Given the description of an element on the screen output the (x, y) to click on. 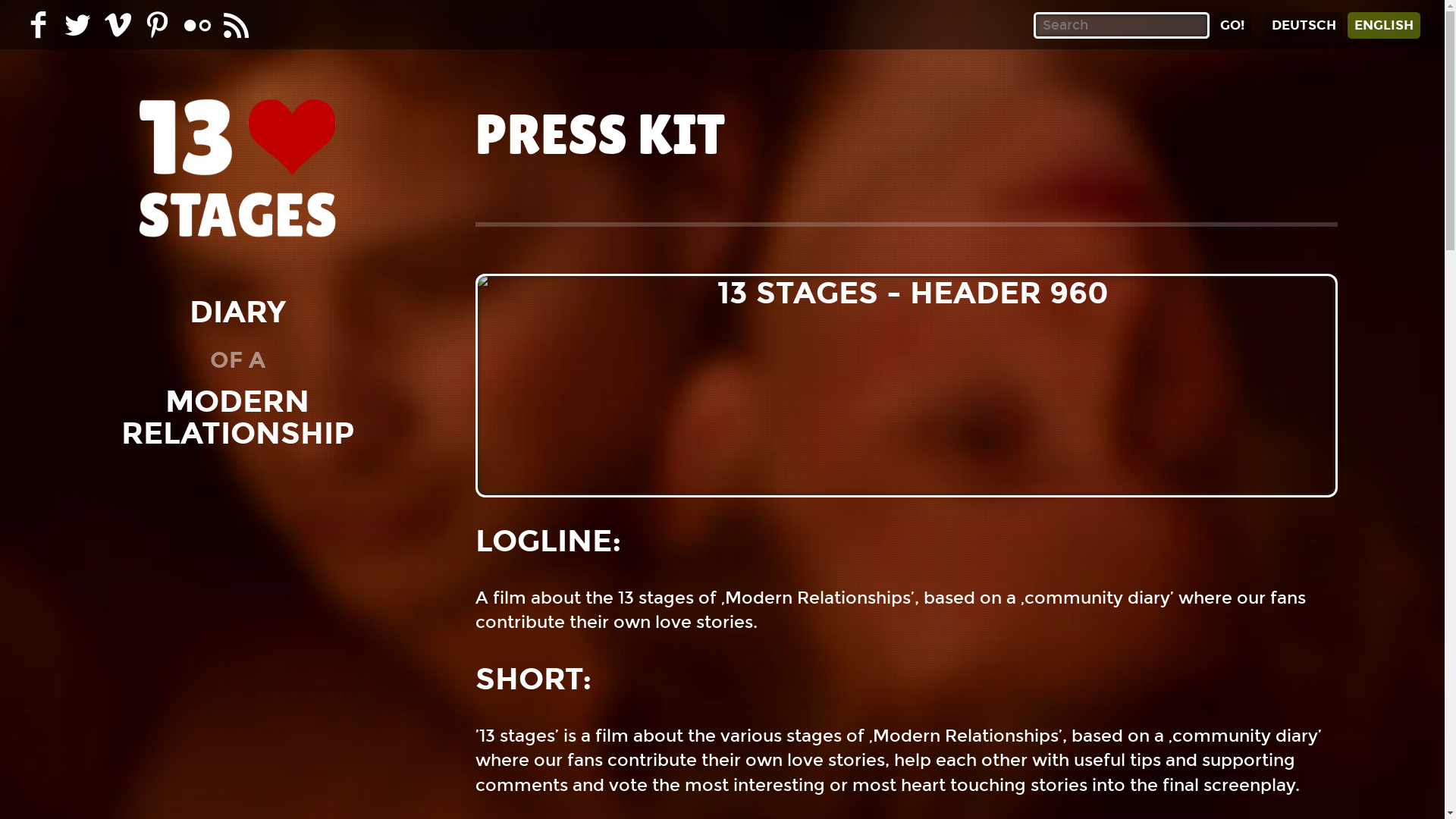
GO! Element type: text (1232, 25)
OF A Element type: text (237, 359)
MODERN RELATIONSHIP Element type: text (237, 416)
English Element type: hover (1383, 25)
'13 Stufen' auf twitter Element type: hover (77, 24)
13 stages - header 960 Element type: hover (906, 385)
13 stages Element type: hover (237, 172)
'13 Stufen' auf pinterest Element type: hover (157, 24)
RSS Element type: hover (236, 24)
Deutsch Element type: hover (1303, 25)
'13 Stufen' auf vimeo Element type: hover (117, 24)
'13 Stufen' auf flickr Element type: hover (197, 24)
'13 Stufen' auf facebook Element type: hover (37, 24)
DIARY Element type: text (237, 311)
